Given the description of an element on the screen output the (x, y) to click on. 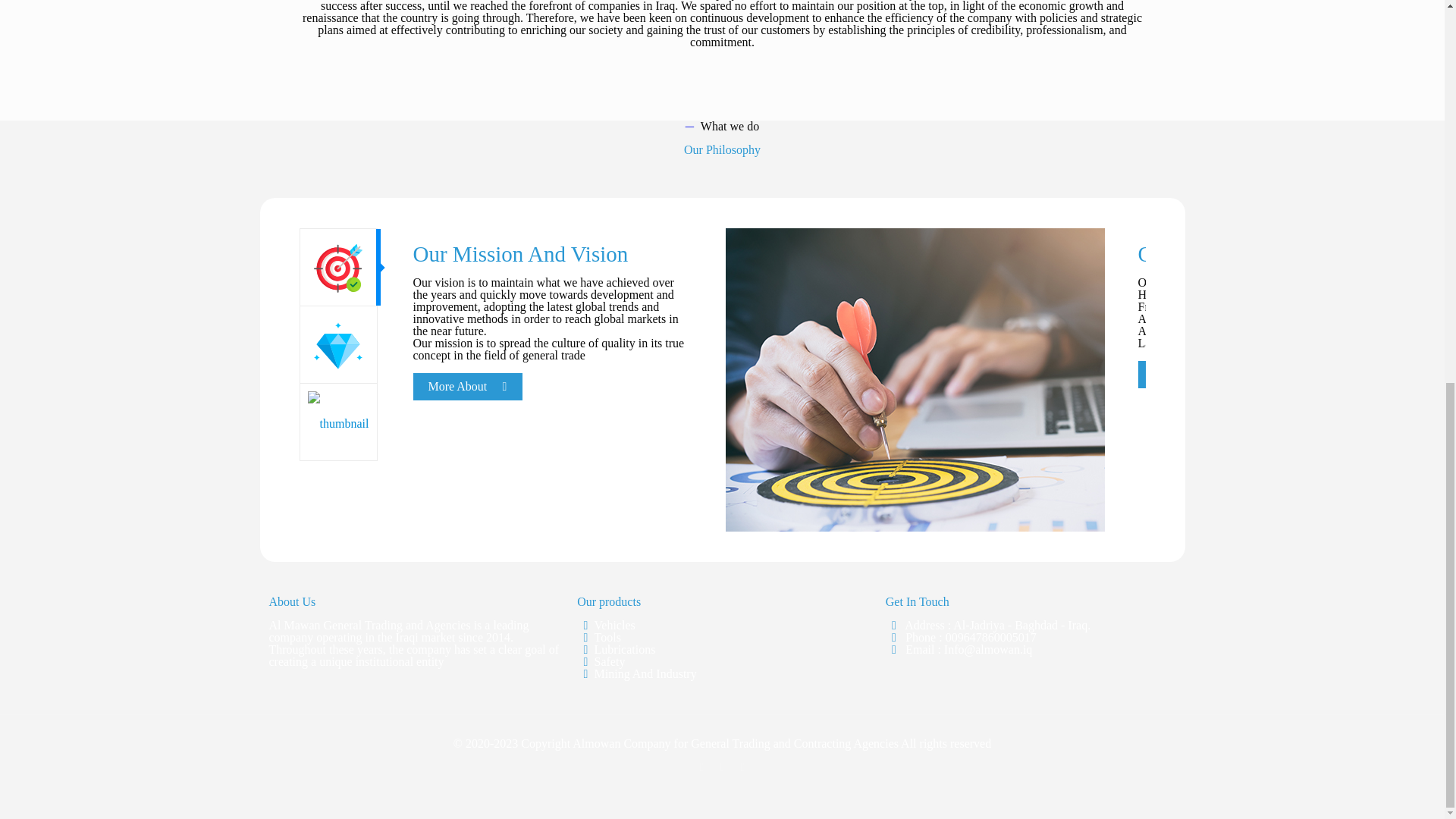
YouTube (743, 767)
Facebook (722, 767)
WhatsApp (702, 767)
